Given the description of an element on the screen output the (x, y) to click on. 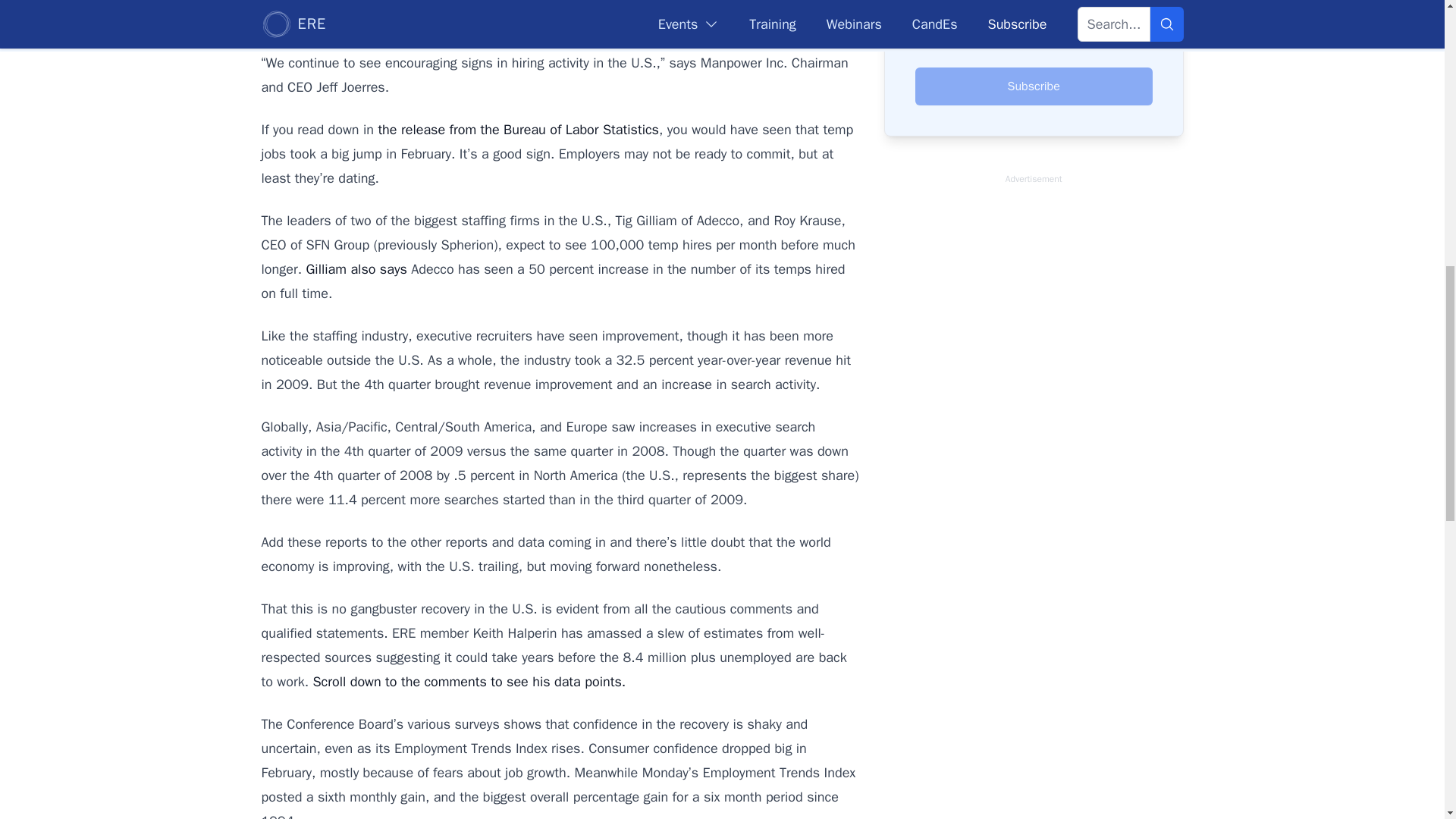
the release from the Bureau of Labor Statistics (518, 129)
Gilliam also says (355, 269)
3rd party ad content (1033, 418)
Scroll down to the comments to see his data points. (469, 681)
